Given the description of an element on the screen output the (x, y) to click on. 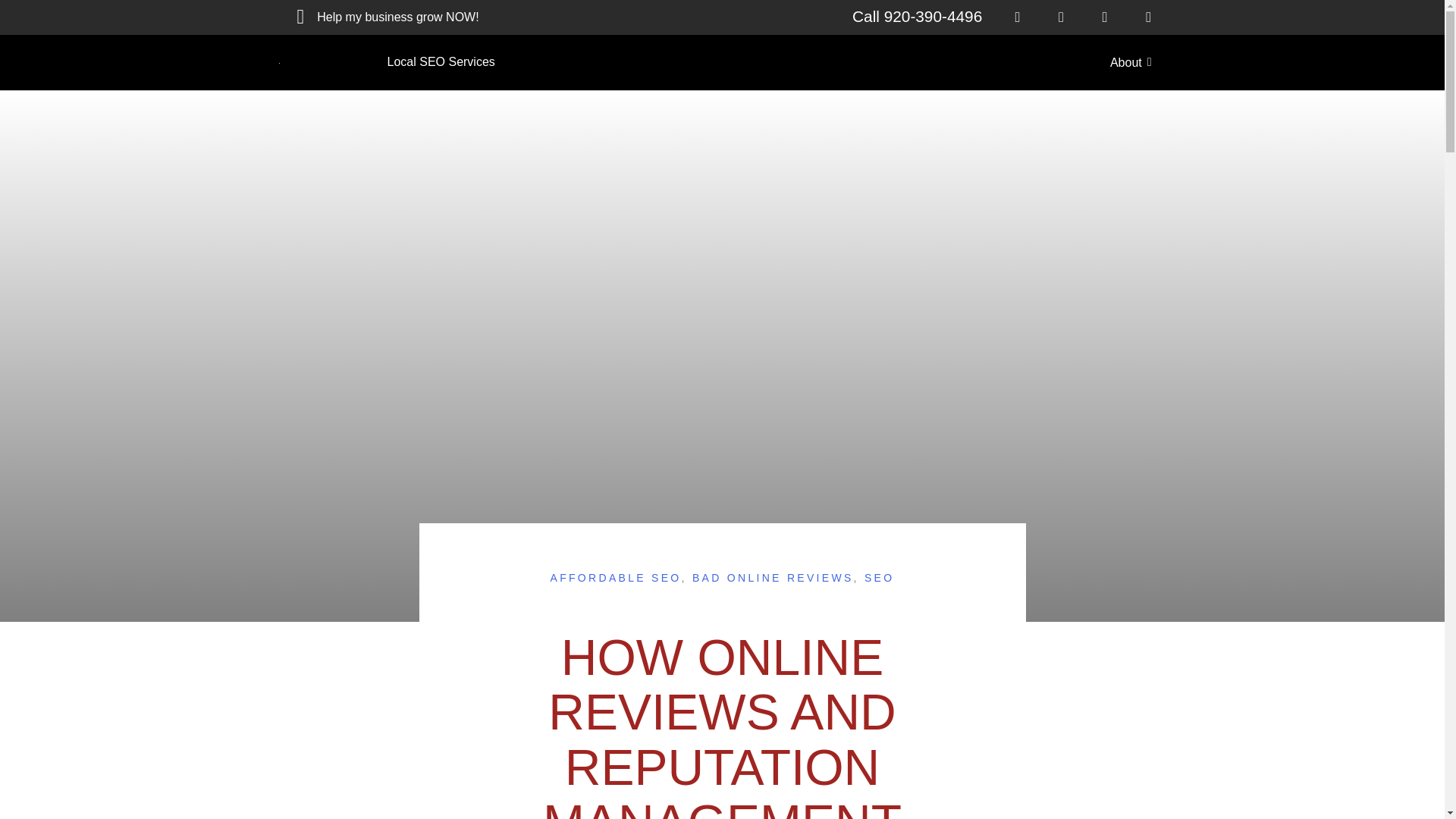
BAD ONLINE REVIEWS (773, 577)
Youtube (1060, 17)
AFFORDABLE SEO (615, 577)
Call 920-390-4496 (916, 16)
Twitter (1017, 17)
About (1136, 62)
Linkedin (1104, 17)
Help my business grow NOW! (379, 16)
Blogger (1148, 17)
SEO (878, 577)
